Given the description of an element on the screen output the (x, y) to click on. 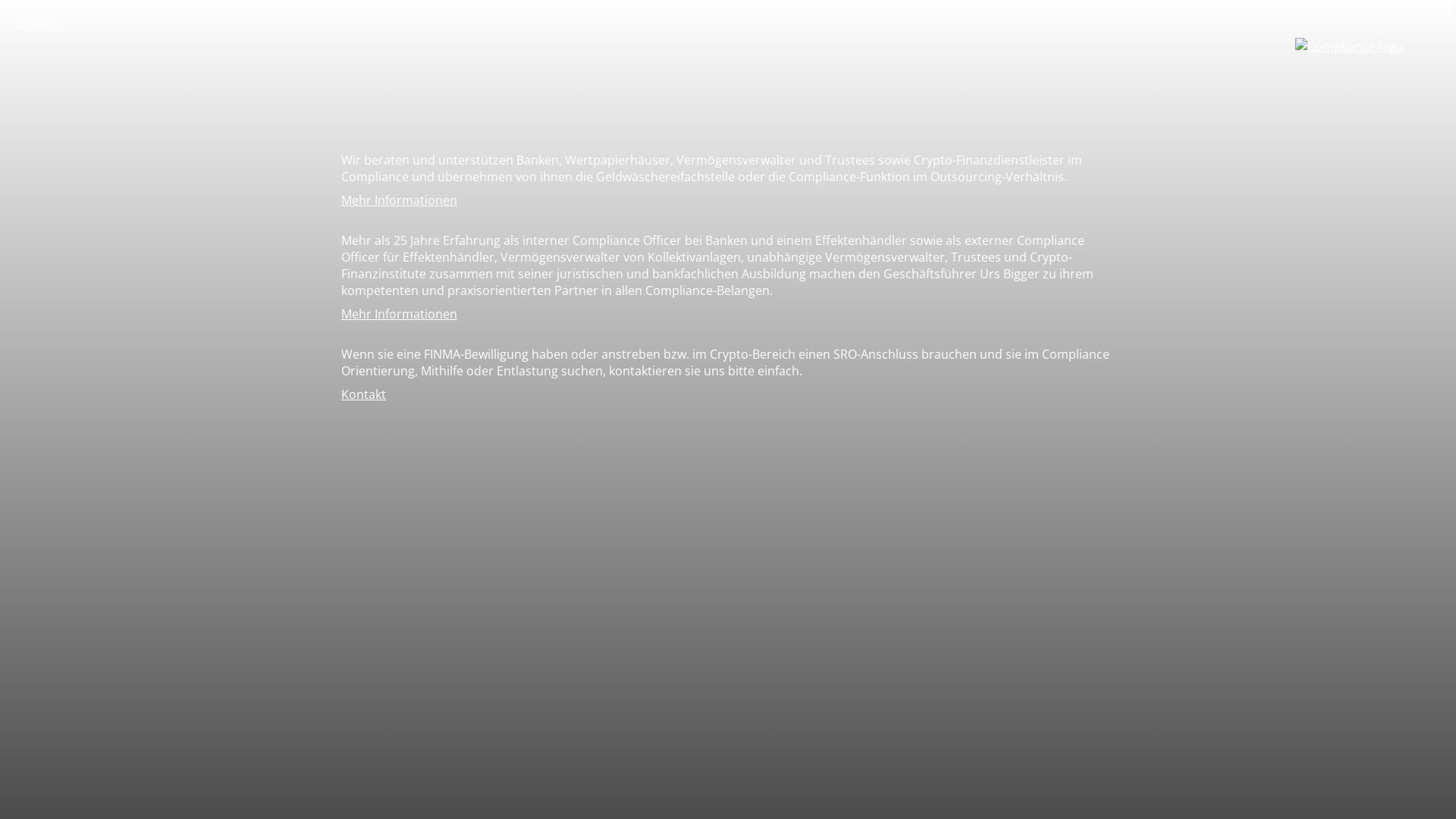
Mehr Informationen Element type: text (399, 199)
English Element type: text (35, 23)
Kontakt Element type: text (363, 393)
Mehr Informationen Element type: text (399, 313)
